Given the description of an element on the screen output the (x, y) to click on. 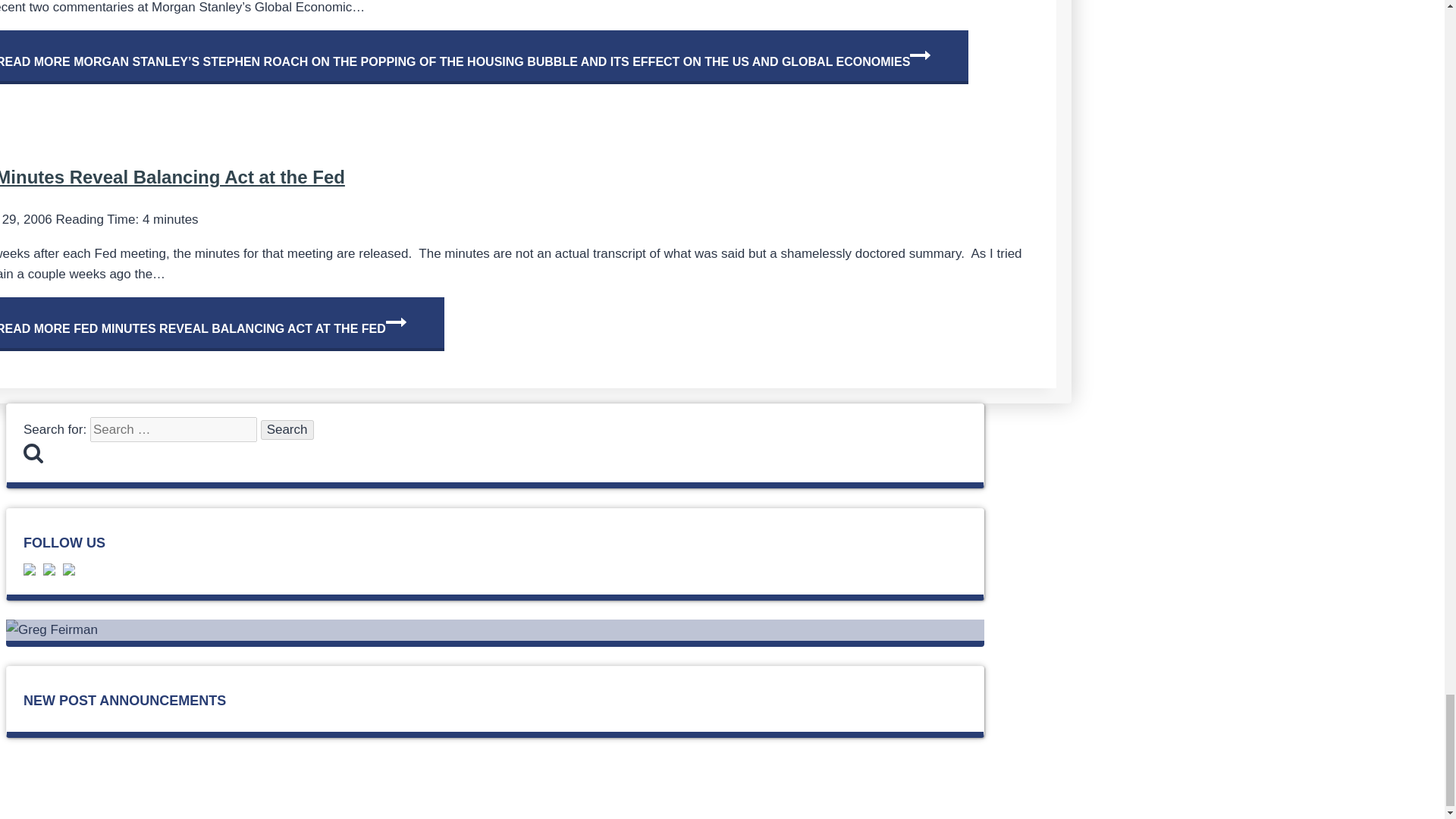
Search (287, 429)
CONTINUE (395, 322)
Search (287, 429)
LEARN MORE (503, 792)
Search (33, 452)
Fed Minutes Reveal Balancing Act at the Fed (172, 177)
Search (287, 429)
CONTINUE (920, 55)
